Given the description of an element on the screen output the (x, y) to click on. 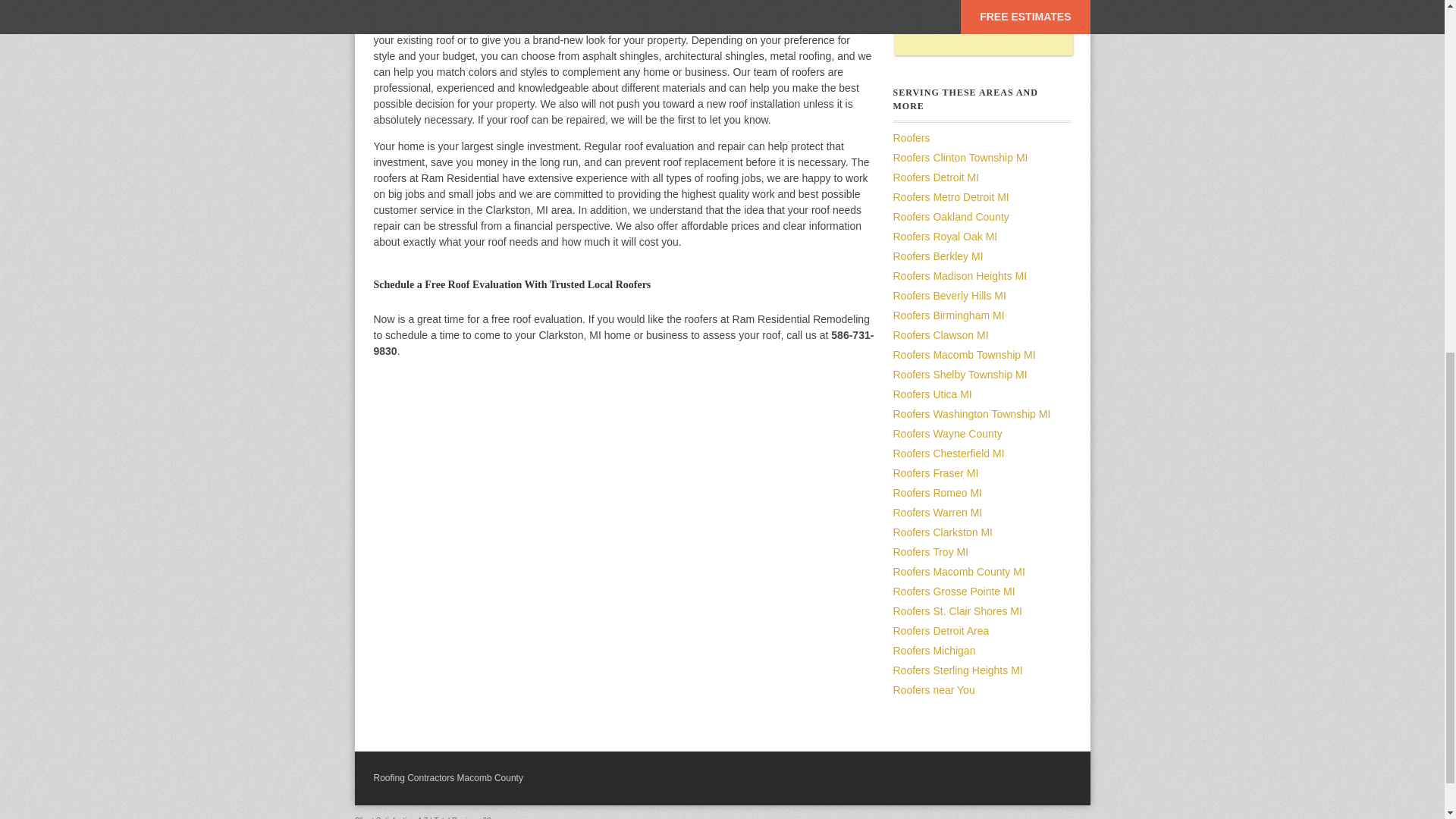
Roofers Clawson MI (940, 335)
Roofers Metro Detroit MI (951, 196)
Roofers Oakland County (951, 216)
Roofers Birmingham MI (948, 315)
Roofers Shelby Township MI (960, 374)
Roofing Contractors Macomb County (447, 777)
Roofers Berkley MI (938, 256)
Roofers Madison Heights MI (960, 275)
Roofers Clinton Township MI (960, 157)
Roofers Utica MI (932, 394)
